Given the description of an element on the screen output the (x, y) to click on. 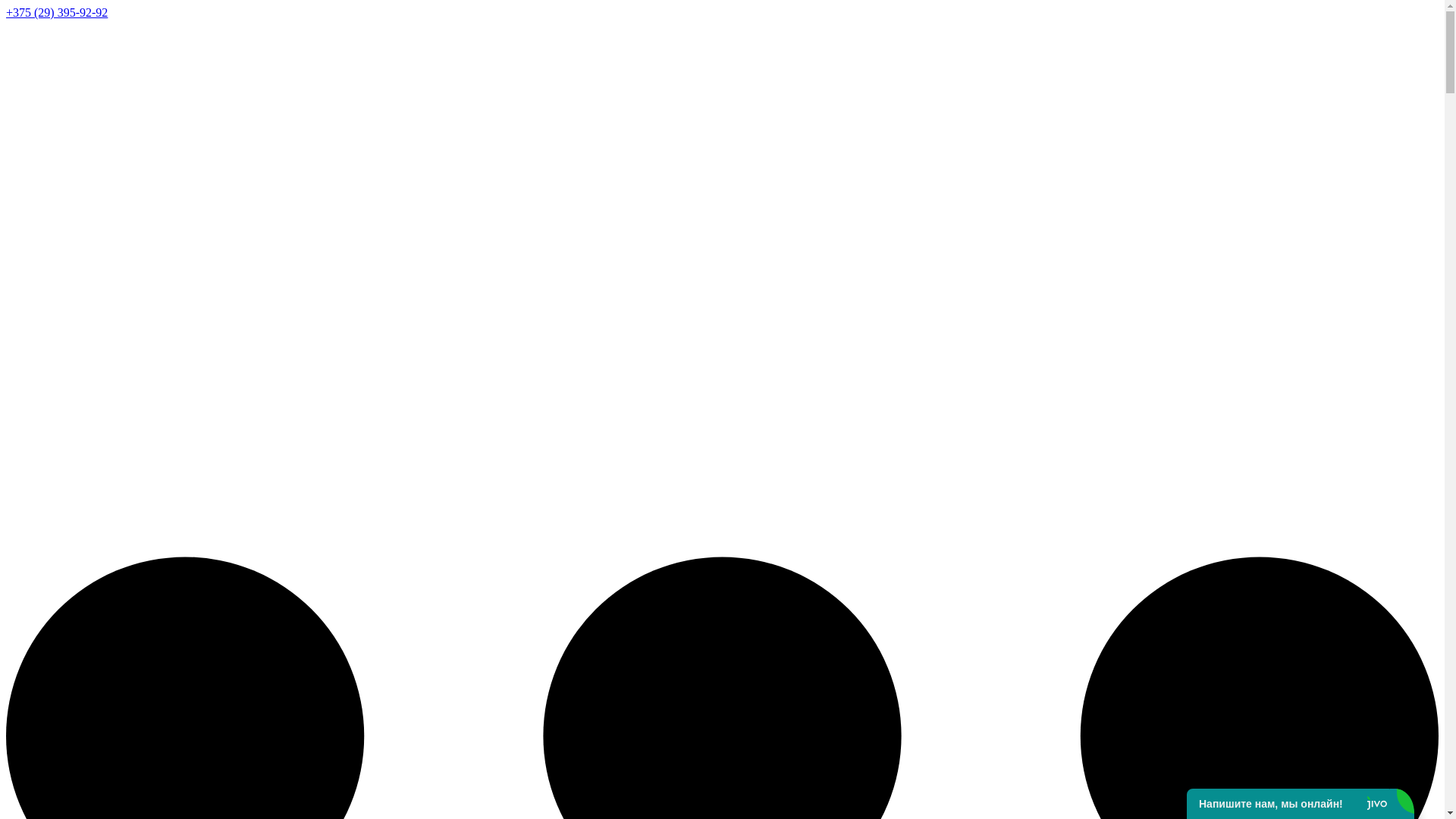
+375 (29) 395-92-92 Element type: text (56, 12)
